Given the description of an element on the screen output the (x, y) to click on. 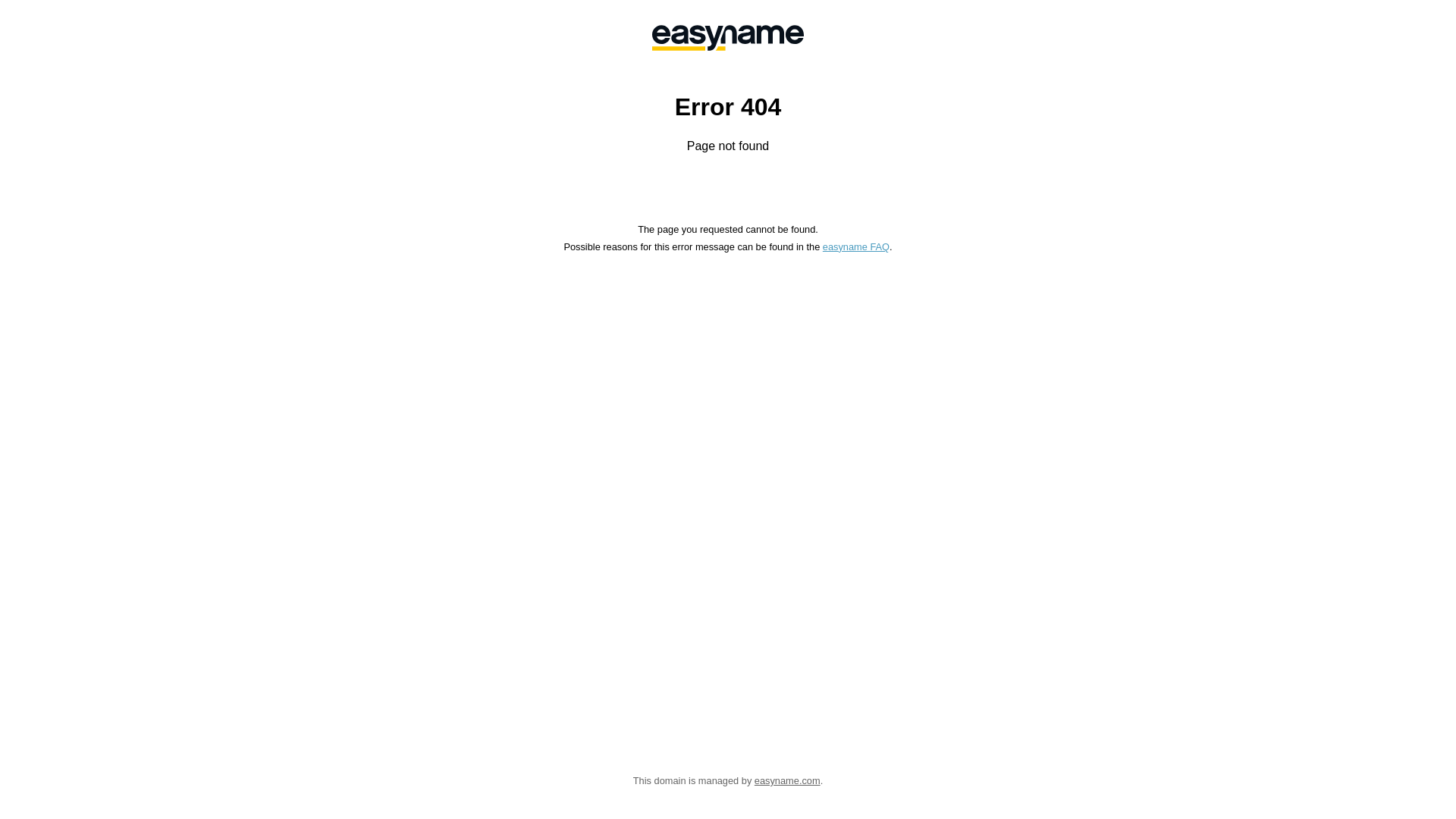
easyname FAQ Element type: text (855, 246)
easyname.com Element type: text (787, 780)
easyname GmbH Element type: hover (727, 37)
